Given the description of an element on the screen output the (x, y) to click on. 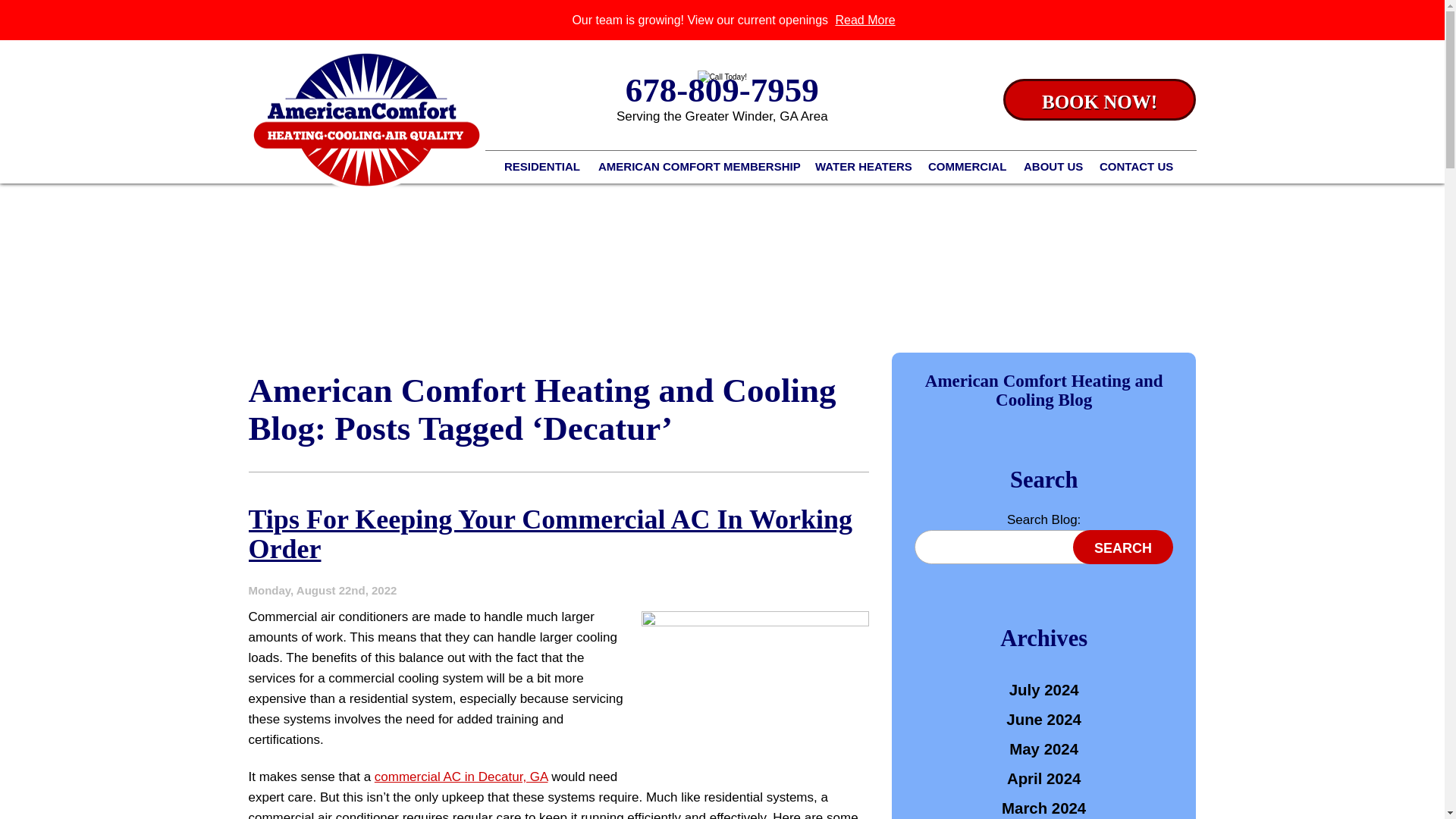
BOOK NOW! (1099, 99)
RESIDENTIAL (544, 166)
COMMERCIAL (968, 166)
WATER HEATERS (866, 166)
AMERICAN COMFORT MEMBERSHIP (699, 166)
Read More (864, 19)
678-809-7959 (722, 89)
